Given the description of an element on the screen output the (x, y) to click on. 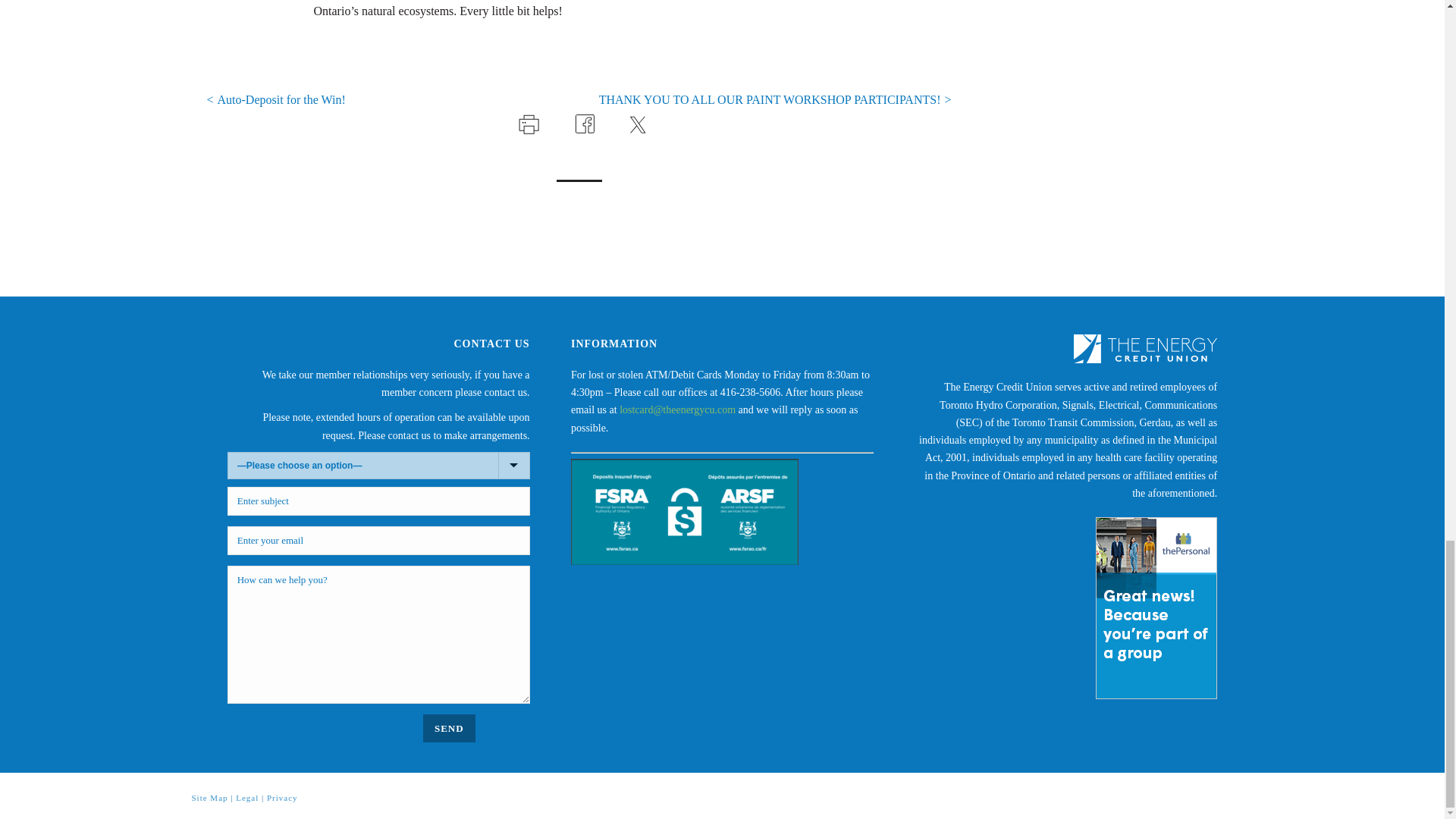
Send (449, 728)
Print (526, 122)
